Given the description of an element on the screen output the (x, y) to click on. 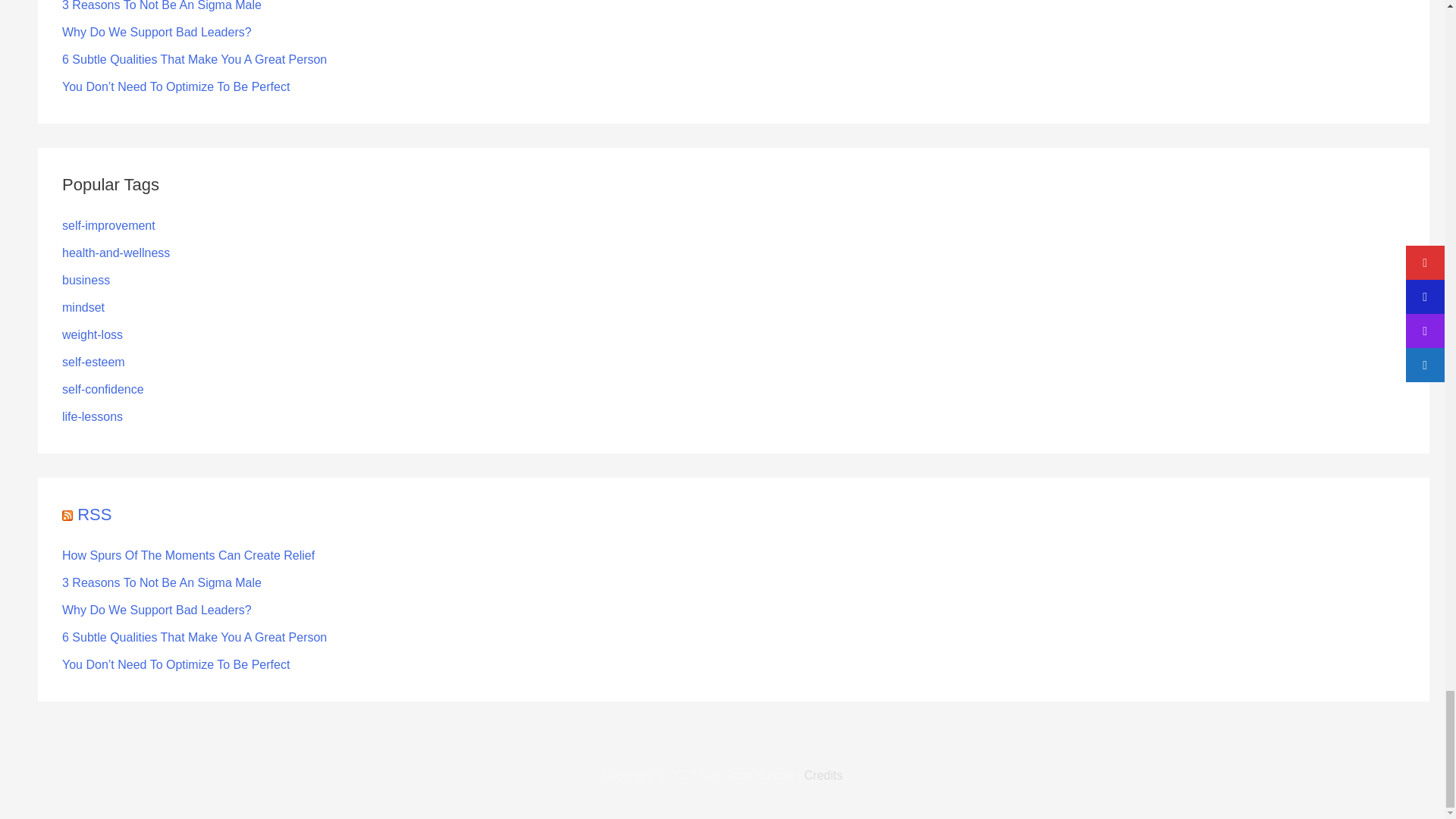
3 Reasons To Not Be An Sigma Male (162, 5)
